Given the description of an element on the screen output the (x, y) to click on. 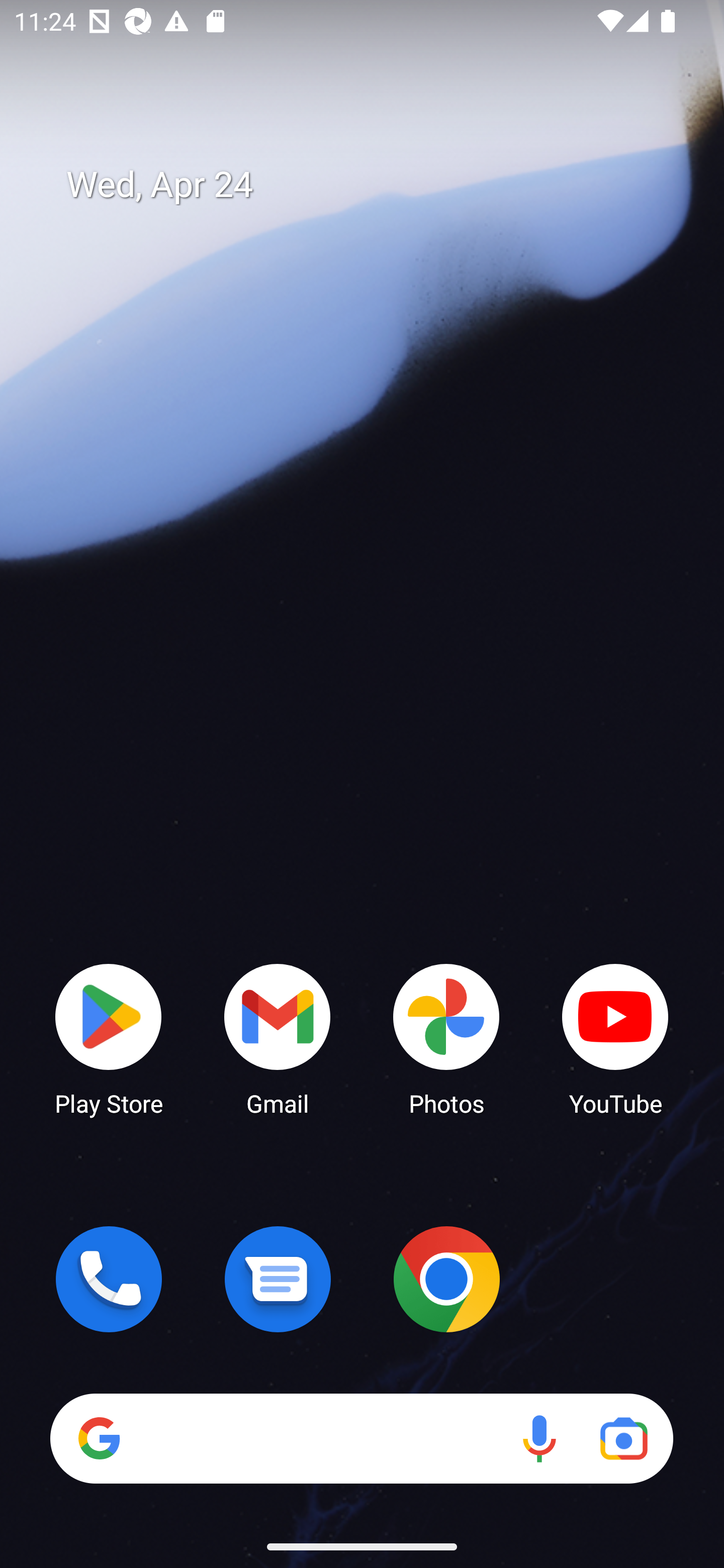
Wed, Apr 24 (375, 184)
Play Store (108, 1038)
Gmail (277, 1038)
Photos (445, 1038)
YouTube (615, 1038)
Phone (108, 1279)
Messages (277, 1279)
Chrome (446, 1279)
Search Voice search Google Lens (361, 1438)
Voice search (539, 1438)
Google Lens (623, 1438)
